Given the description of an element on the screen output the (x, y) to click on. 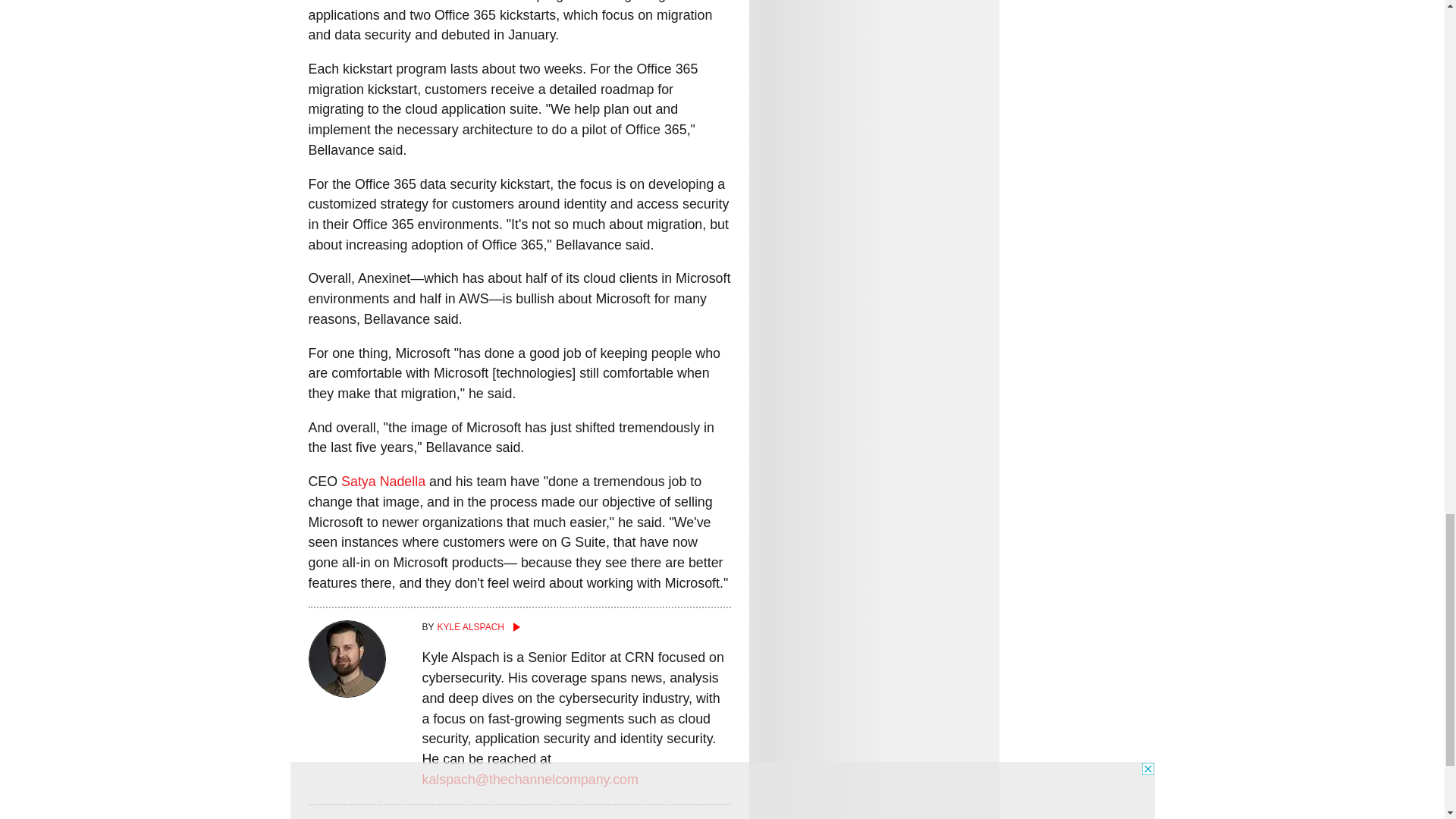
Kyle Alspach (346, 693)
KYLE ALSPACH (576, 626)
Satya Nadella (382, 481)
Kyle Alspach (576, 626)
Satya Nadella (382, 481)
